Given the description of an element on the screen output the (x, y) to click on. 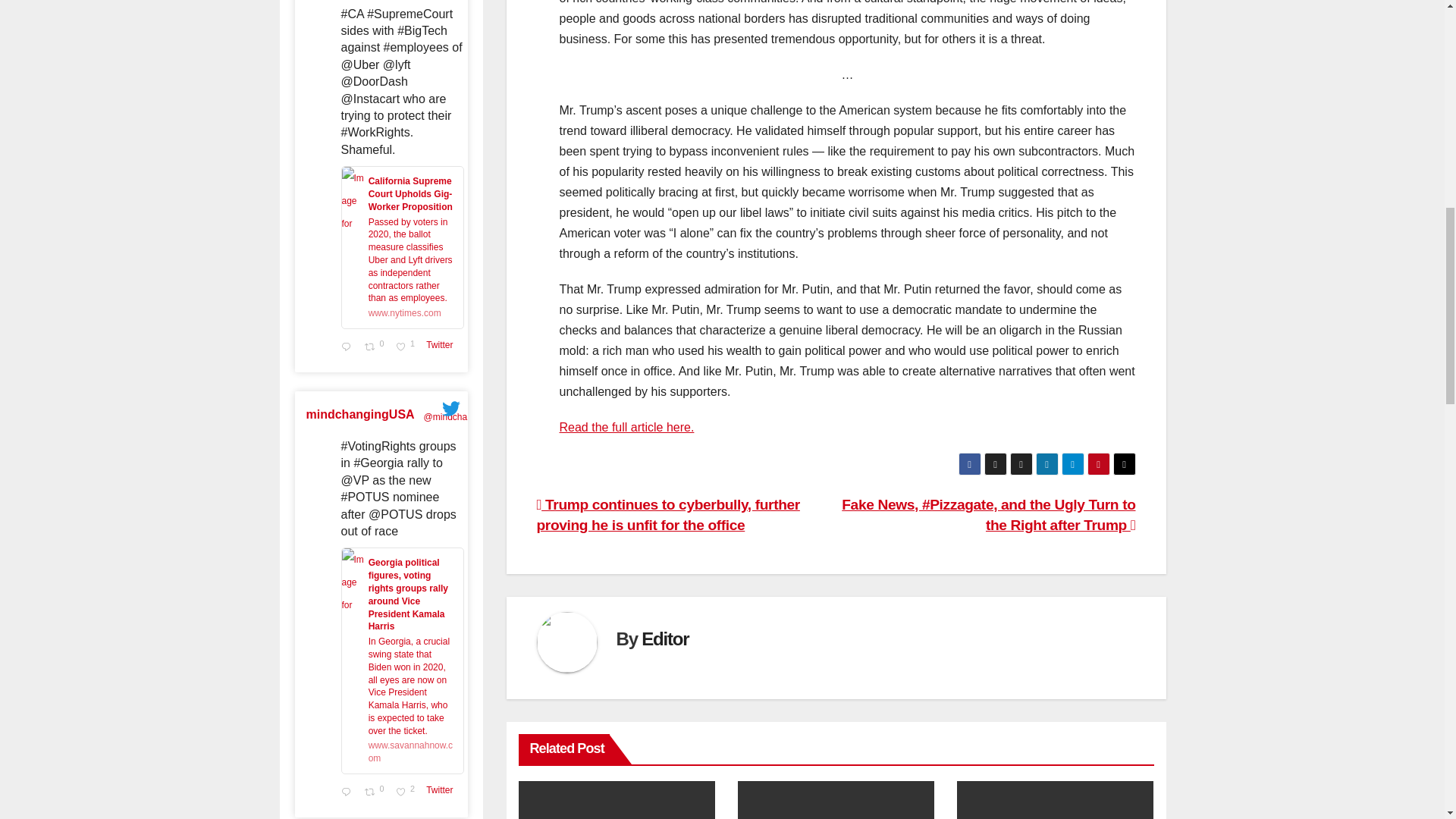
Reply on Twitter 1815932695358406866 (348, 792)
mindchangingUSA (407, 792)
Twitter 1816619330622325172 (376, 792)
Reply on Twitter 1816619330622325172 (359, 414)
